Given the description of an element on the screen output the (x, y) to click on. 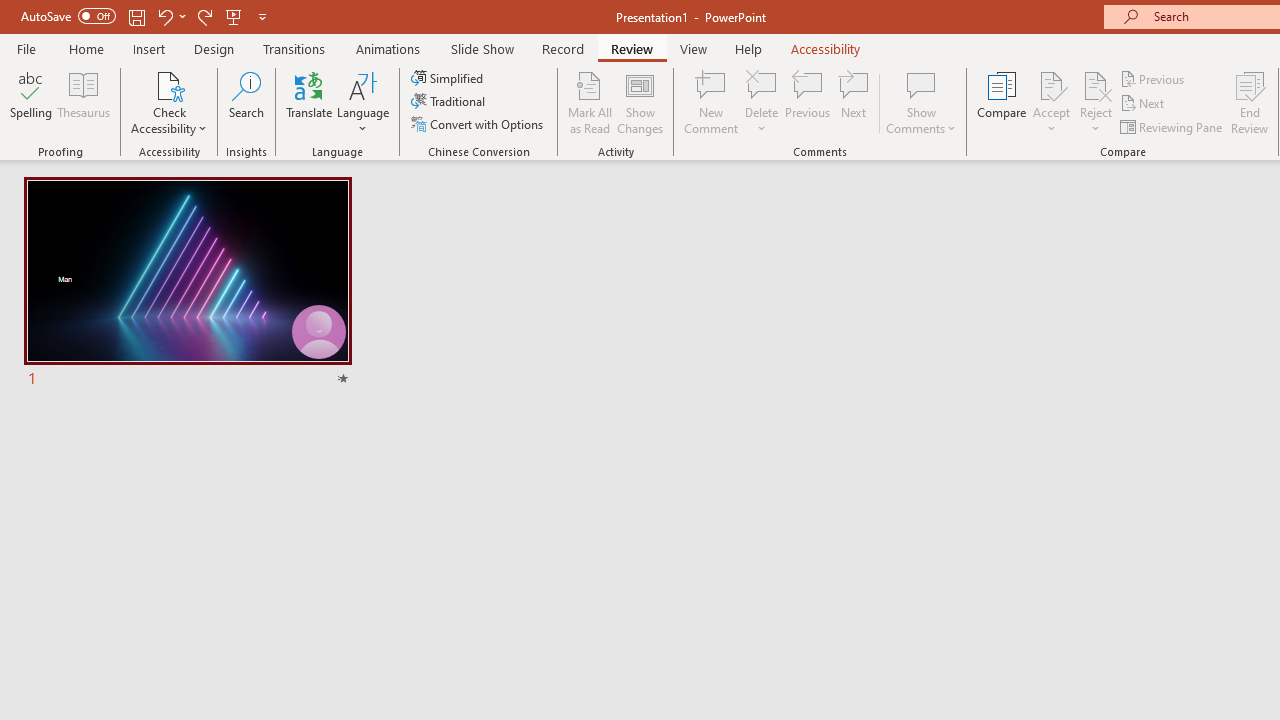
Show Comments (921, 102)
Mark All as Read (589, 102)
Reject Change (1096, 84)
Previous (1153, 78)
Convert with Options... (479, 124)
Language (363, 102)
